Given the description of an element on the screen output the (x, y) to click on. 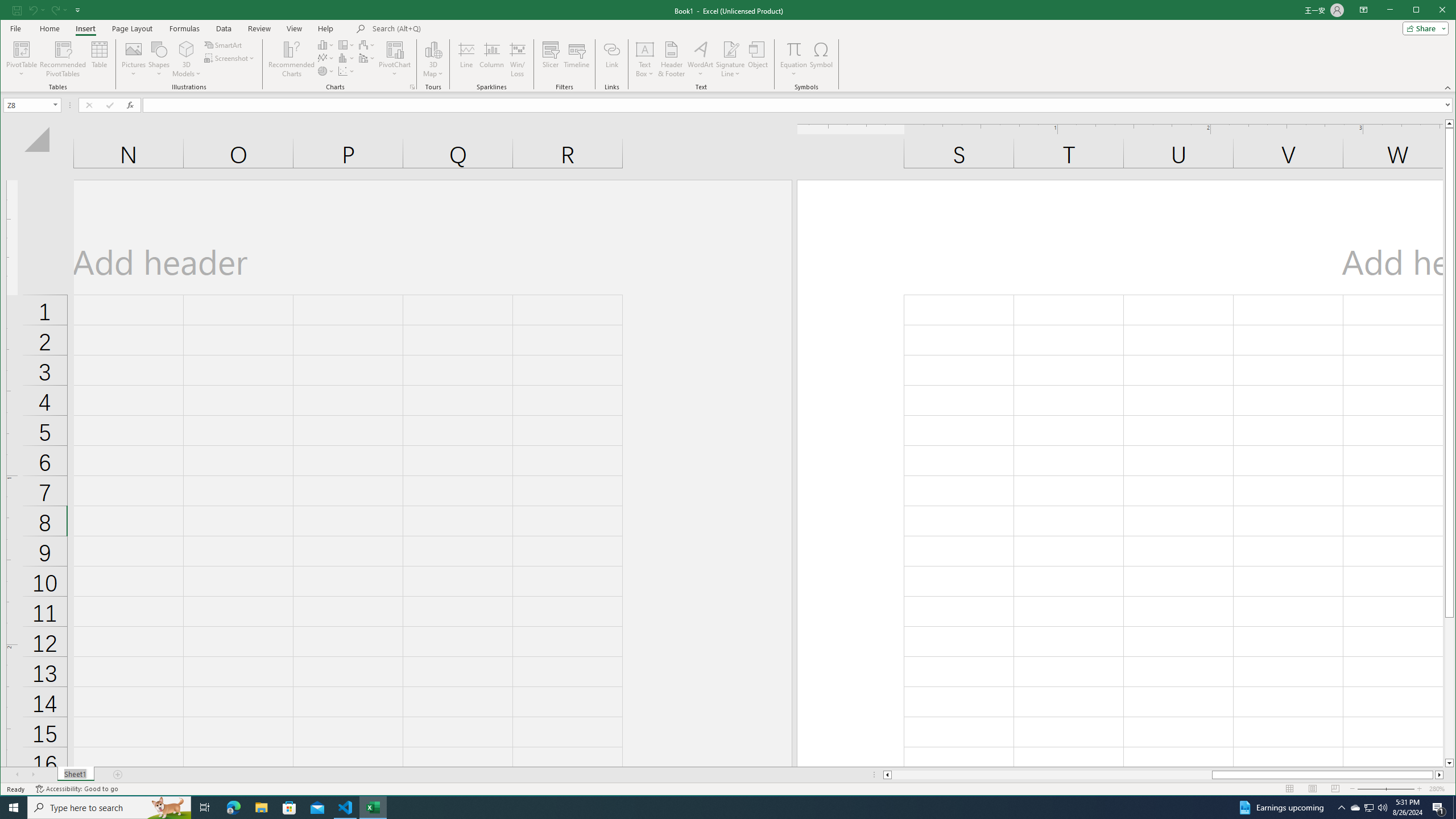
Shapes (159, 59)
3D Models (186, 48)
Header & Footer... (670, 59)
SmartArt... (224, 44)
Visual Studio Code - 1 running window (345, 807)
Timeline (576, 59)
Win/Loss (517, 59)
File Explorer (261, 807)
Search highlights icon opens search home window (167, 807)
Q2790: 100% (1382, 807)
